Given the description of an element on the screen output the (x, y) to click on. 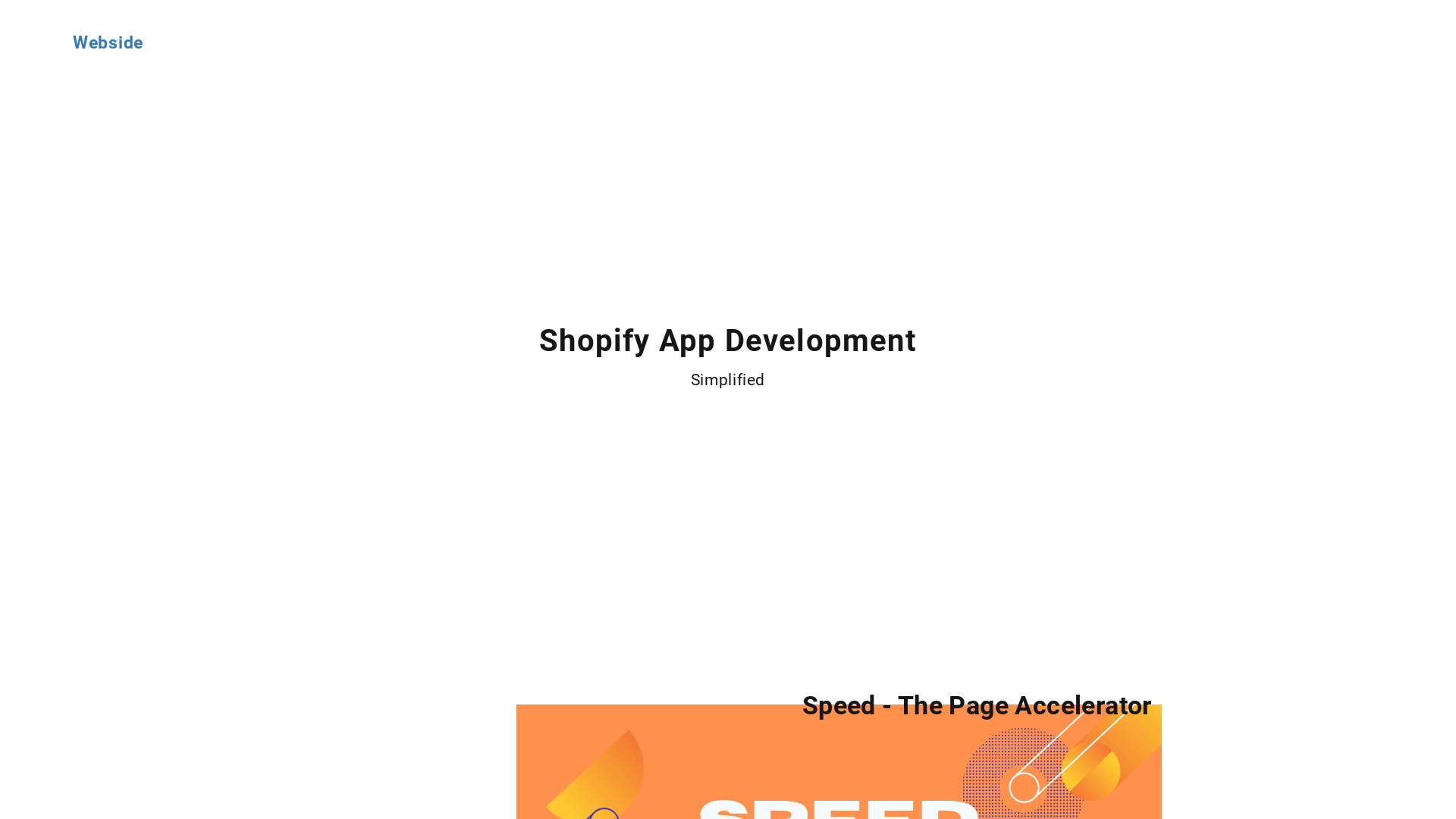
Webside Element type: text (107, 42)
